Given the description of an element on the screen output the (x, y) to click on. 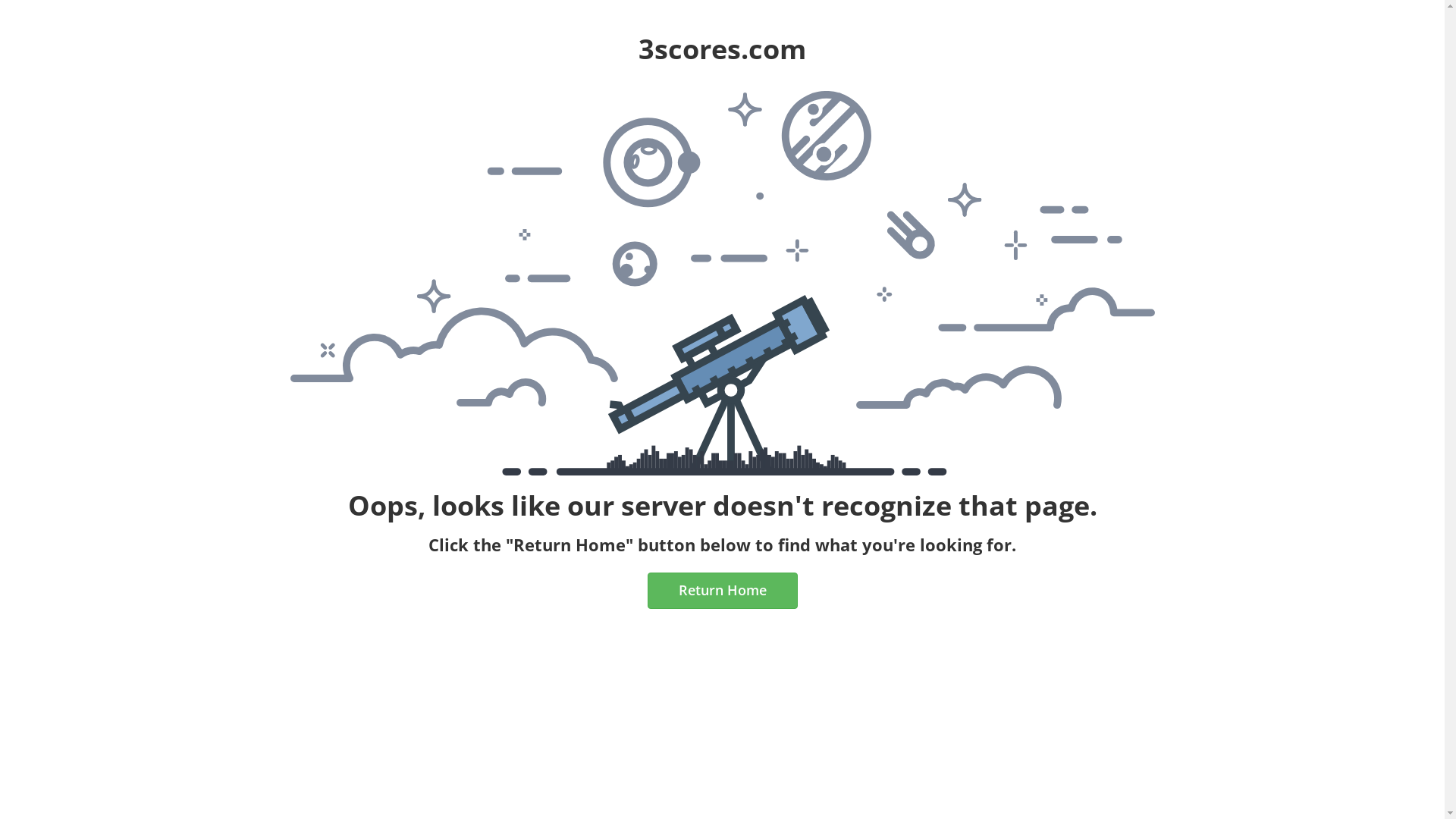
Return Home Element type: text (722, 590)
